Given the description of an element on the screen output the (x, y) to click on. 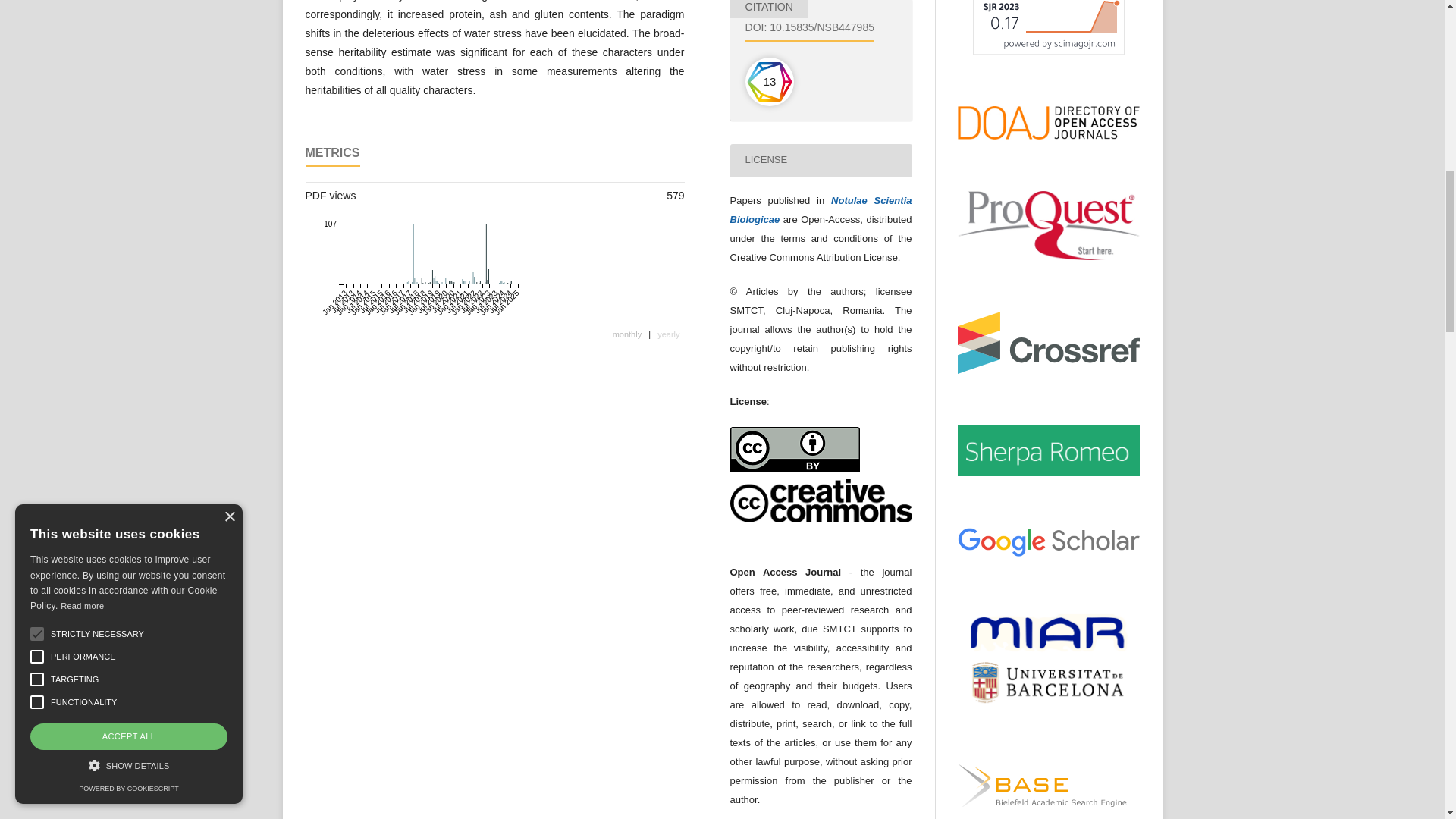
yearly (668, 334)
monthly (627, 334)
NSB Sherpa (1047, 472)
